Given the description of an element on the screen output the (x, y) to click on. 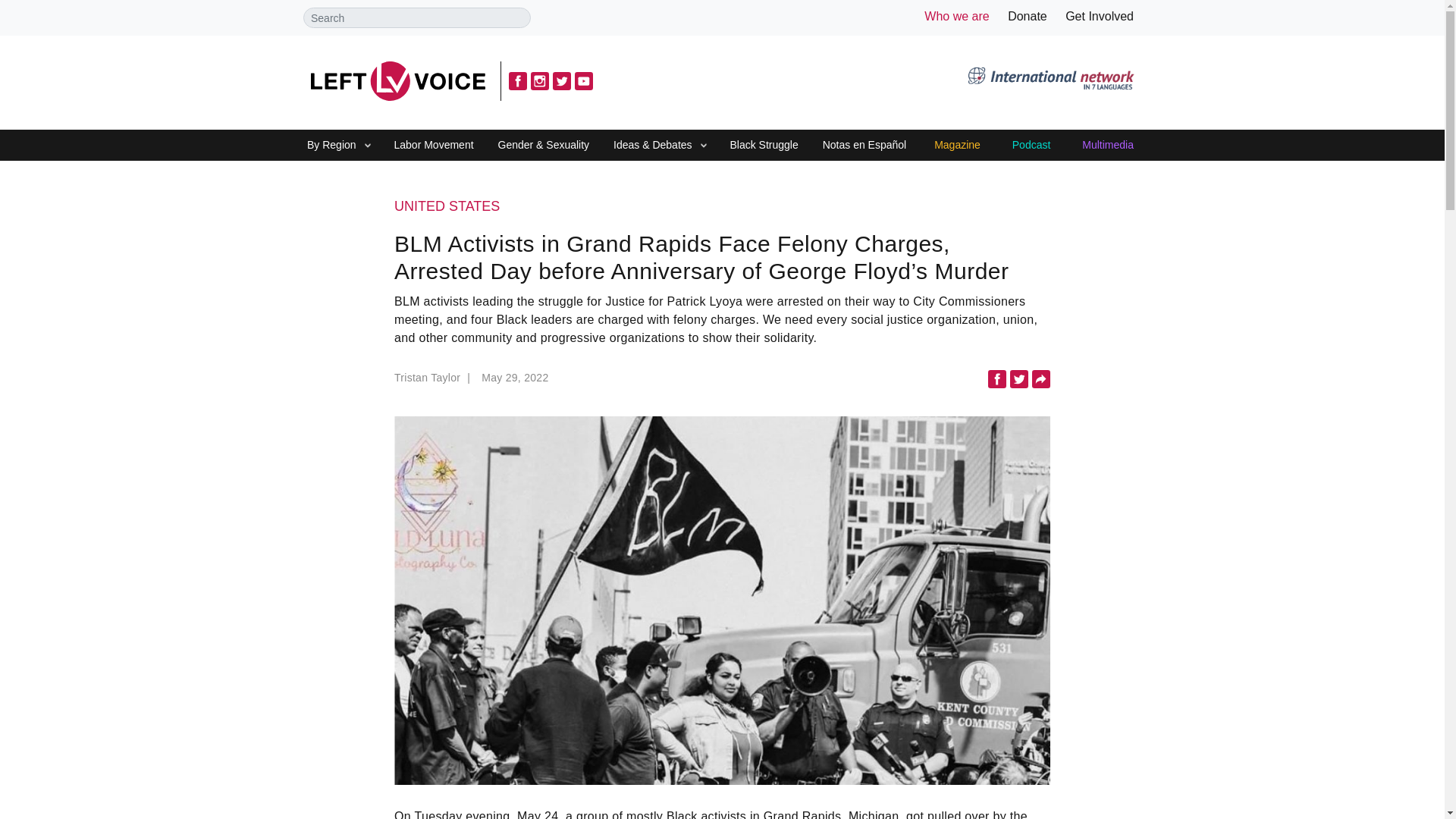
Left Voice (397, 80)
Labor Movement (433, 145)
Podcast (1031, 145)
Get Involved (1099, 15)
International Network (1050, 80)
Magazine (957, 145)
By Region (330, 145)
Black Struggle (763, 145)
Who we are (956, 15)
Tristan Taylor (434, 381)
Donate (1027, 15)
UNITED STATES (721, 207)
Multimedia (1107, 145)
